Given the description of an element on the screen output the (x, y) to click on. 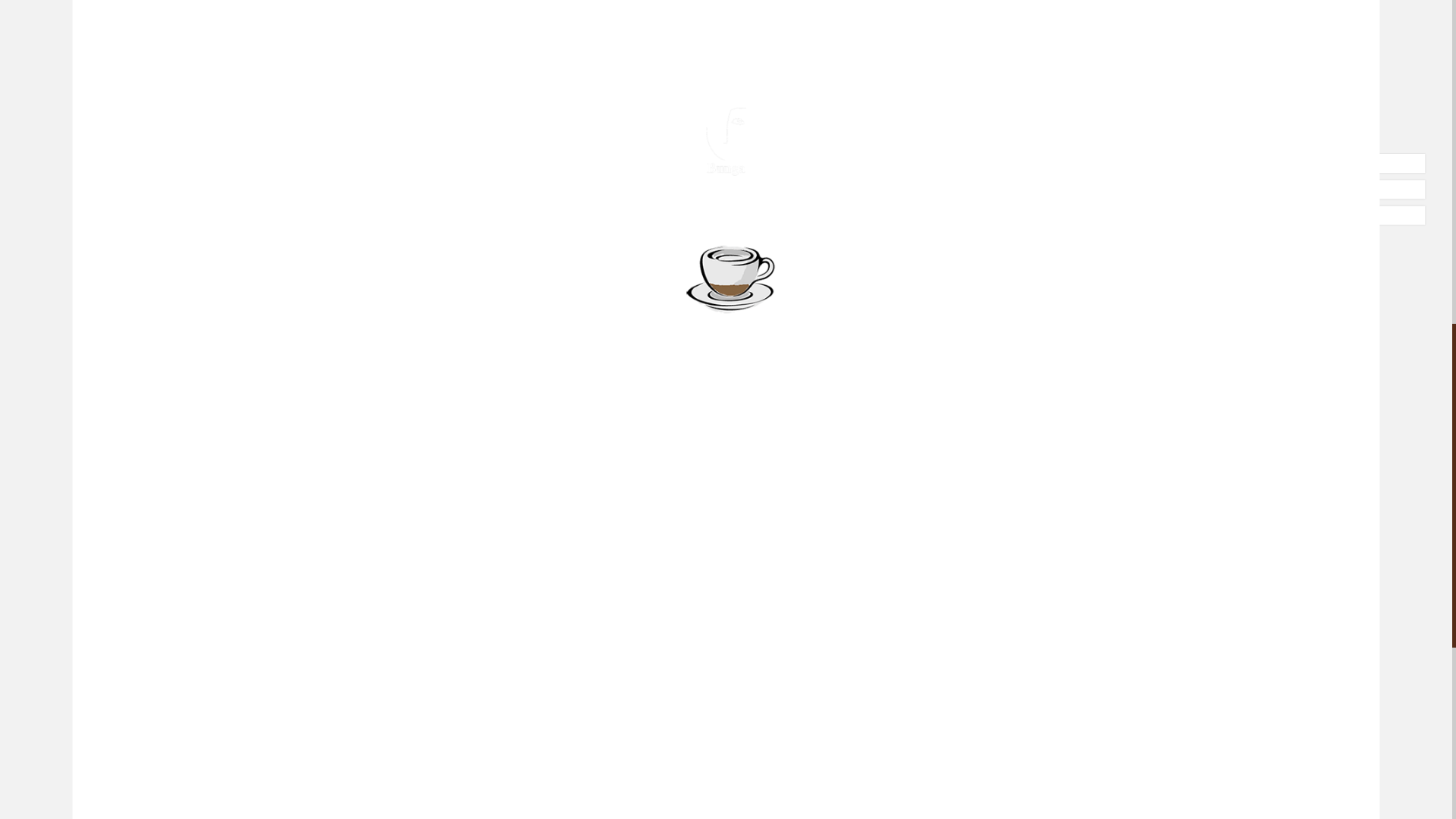
1 (1026, 527)
1 (1026, 642)
Quick View (1040, 562)
1 (1026, 756)
Quick View (1040, 677)
